Given the description of an element on the screen output the (x, y) to click on. 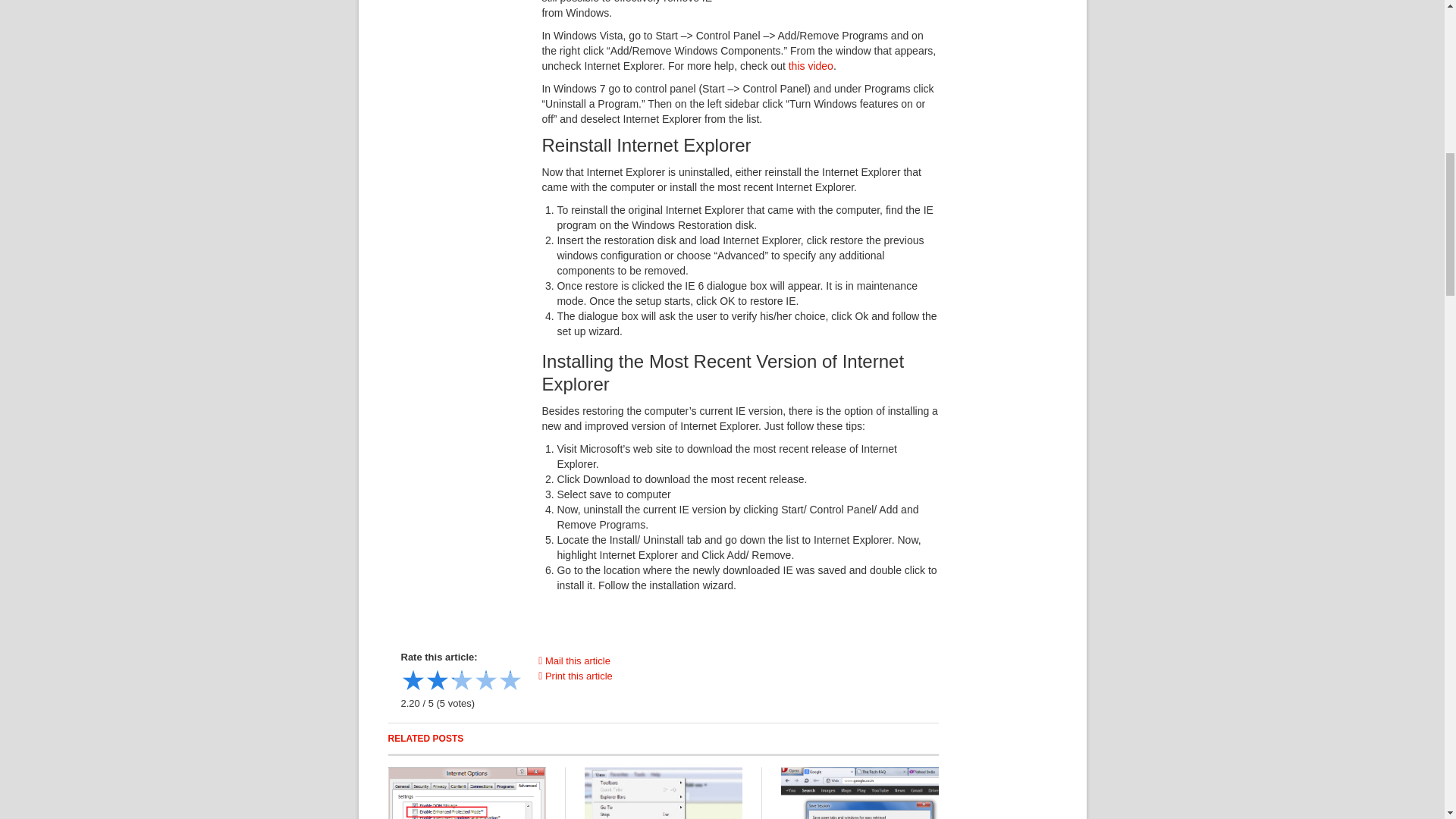
this video (810, 65)
Print this article (575, 675)
Mail this article (574, 660)
